Given the description of an element on the screen output the (x, y) to click on. 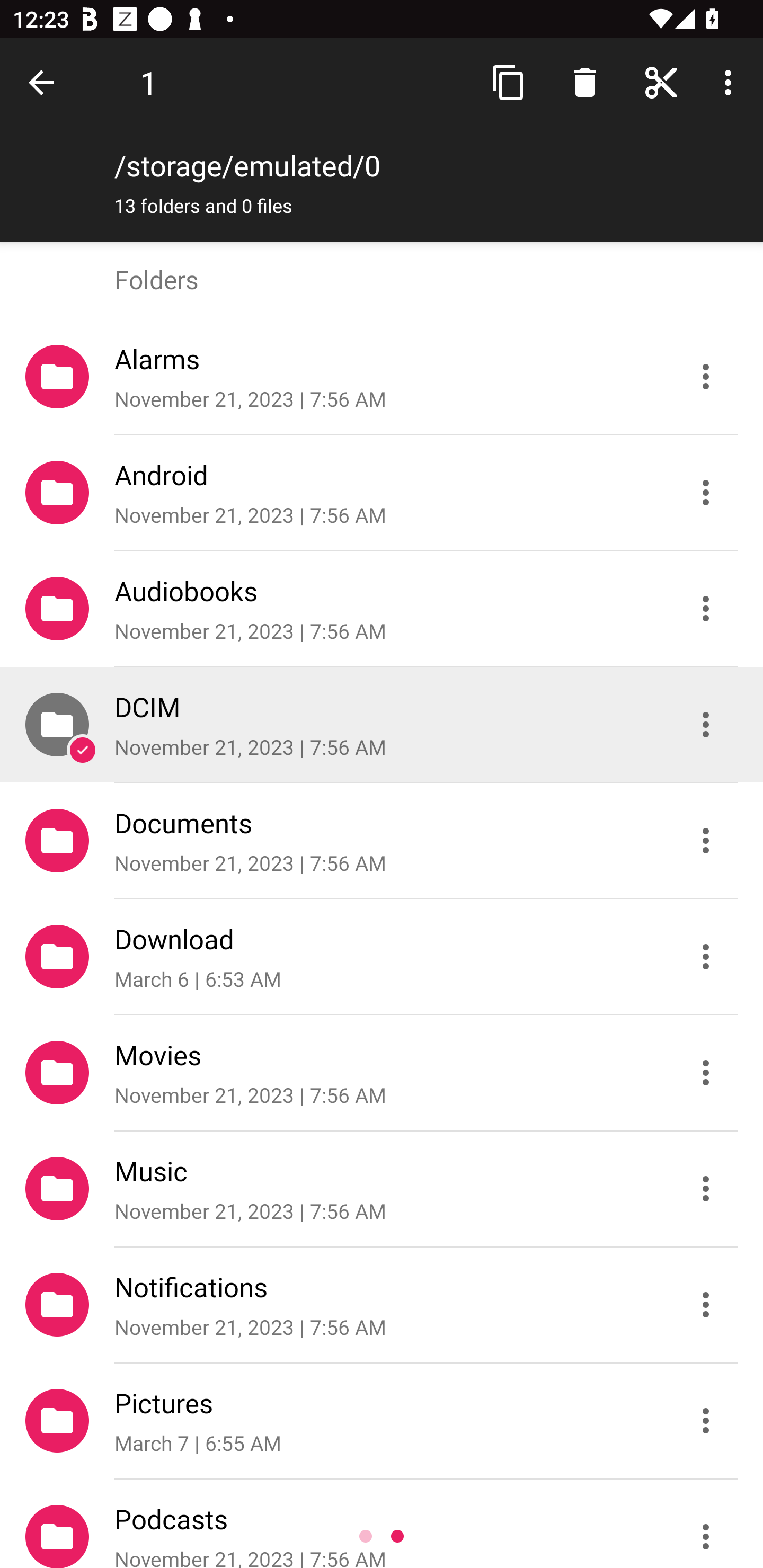
1 (148, 82)
Done (44, 81)
Copy (508, 81)
Search (585, 81)
Delete (585, 81)
Home (661, 81)
More options (731, 81)
Alarms November 21, 2023 | 7:56 AM (381, 376)
Android November 21, 2023 | 7:56 AM (381, 492)
Audiobooks November 21, 2023 | 7:56 AM (381, 608)
DCIM November 21, 2023 | 7:56 AM (381, 724)
Documents November 21, 2023 | 7:56 AM (381, 841)
Download March 6 | 6:53 AM (381, 957)
Movies November 21, 2023 | 7:56 AM (381, 1073)
Music November 21, 2023 | 7:56 AM (381, 1189)
Notifications November 21, 2023 | 7:56 AM (381, 1305)
Pictures March 7 | 6:55 AM (381, 1421)
Podcasts November 21, 2023 | 7:56 AM (381, 1524)
